Given the description of an element on the screen output the (x, y) to click on. 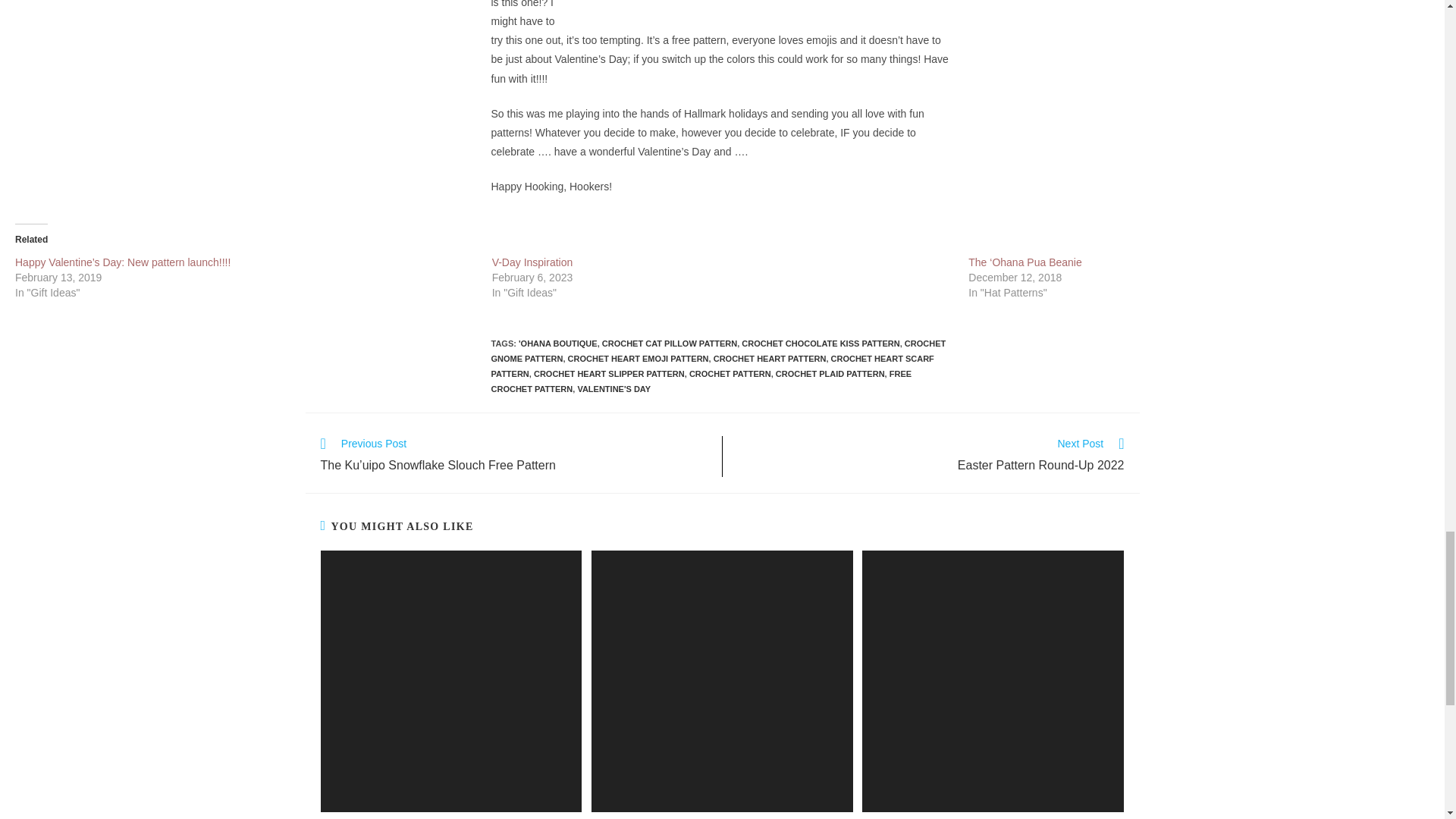
V-Day Inspiration (532, 262)
